Given the description of an element on the screen output the (x, y) to click on. 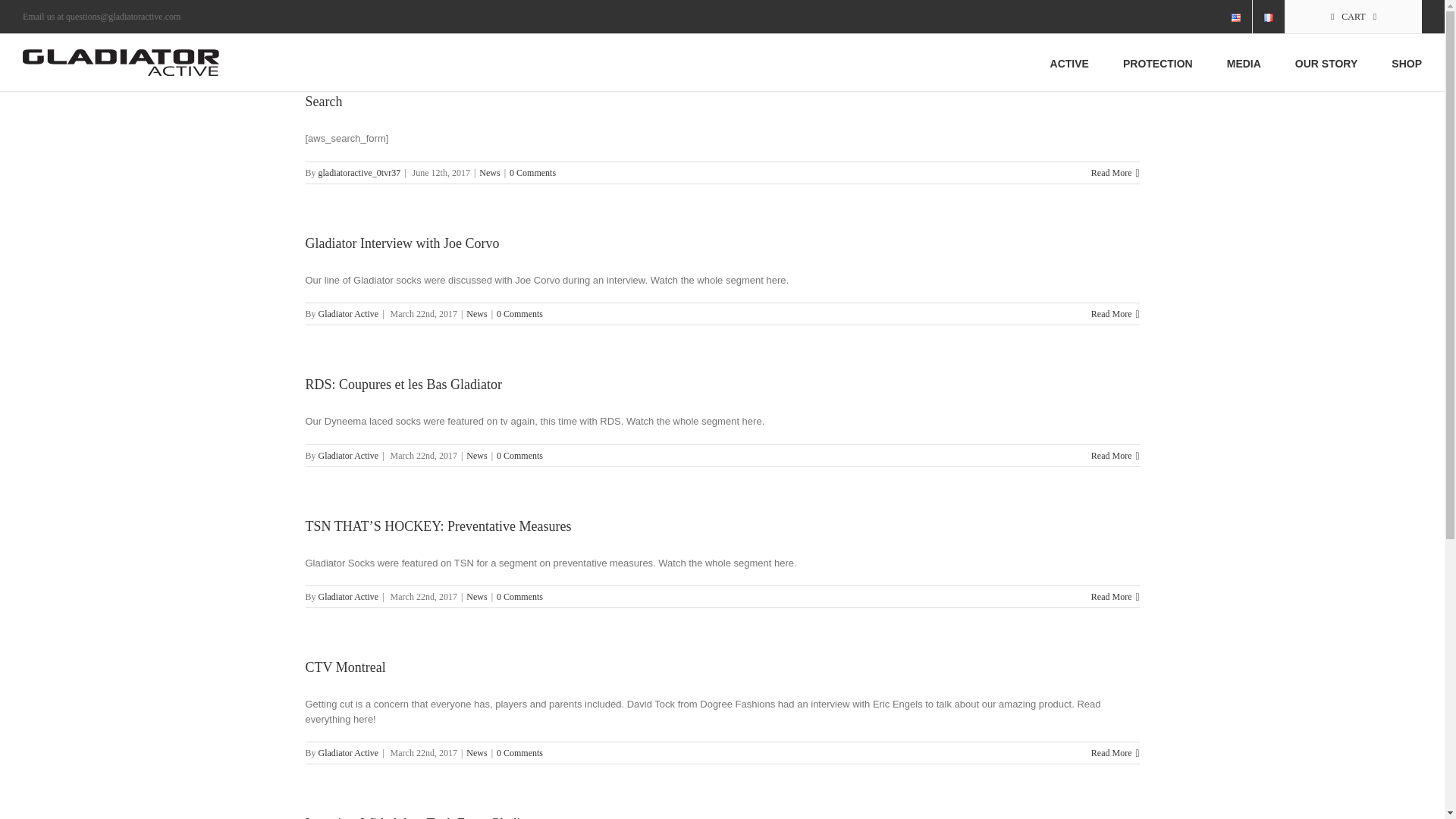
0 Comments (532, 172)
Posts by Gladiator Active (348, 313)
Gladiator Interview with Joe Corvo (401, 242)
OUR STORY (1325, 62)
News (489, 172)
CART (1353, 16)
Search (323, 101)
RDS: Coupures et les Bas Gladiator (402, 384)
Read More (1111, 455)
Gladiator Active (348, 313)
0 Comments (519, 313)
News (475, 313)
PROTECTION (1157, 62)
Read More (1111, 172)
Posts by Gladiator Active (348, 455)
